Given the description of an element on the screen output the (x, y) to click on. 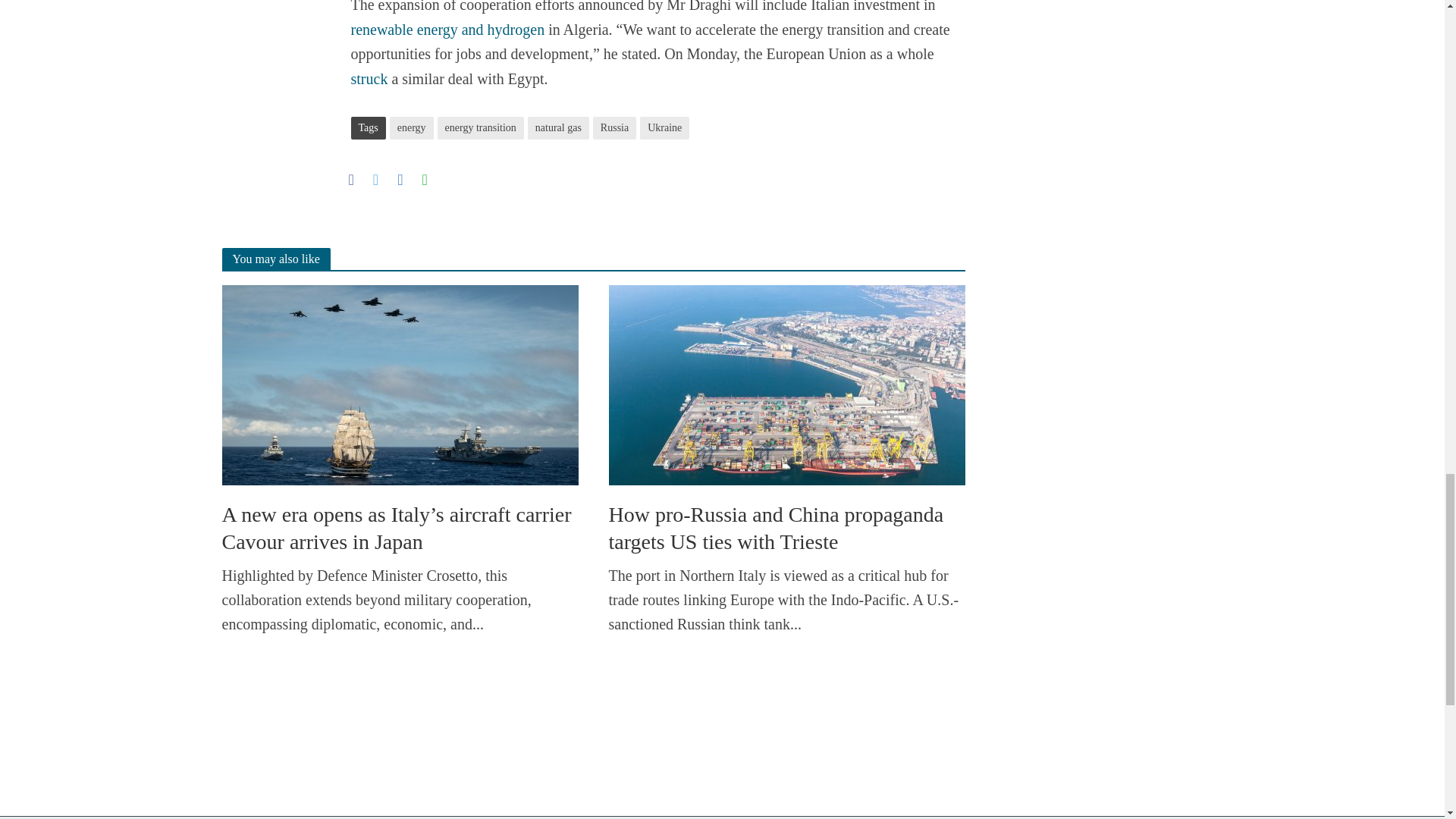
struck (368, 80)
energy (411, 128)
renewable energy and hydrogen (447, 30)
